Given the description of an element on the screen output the (x, y) to click on. 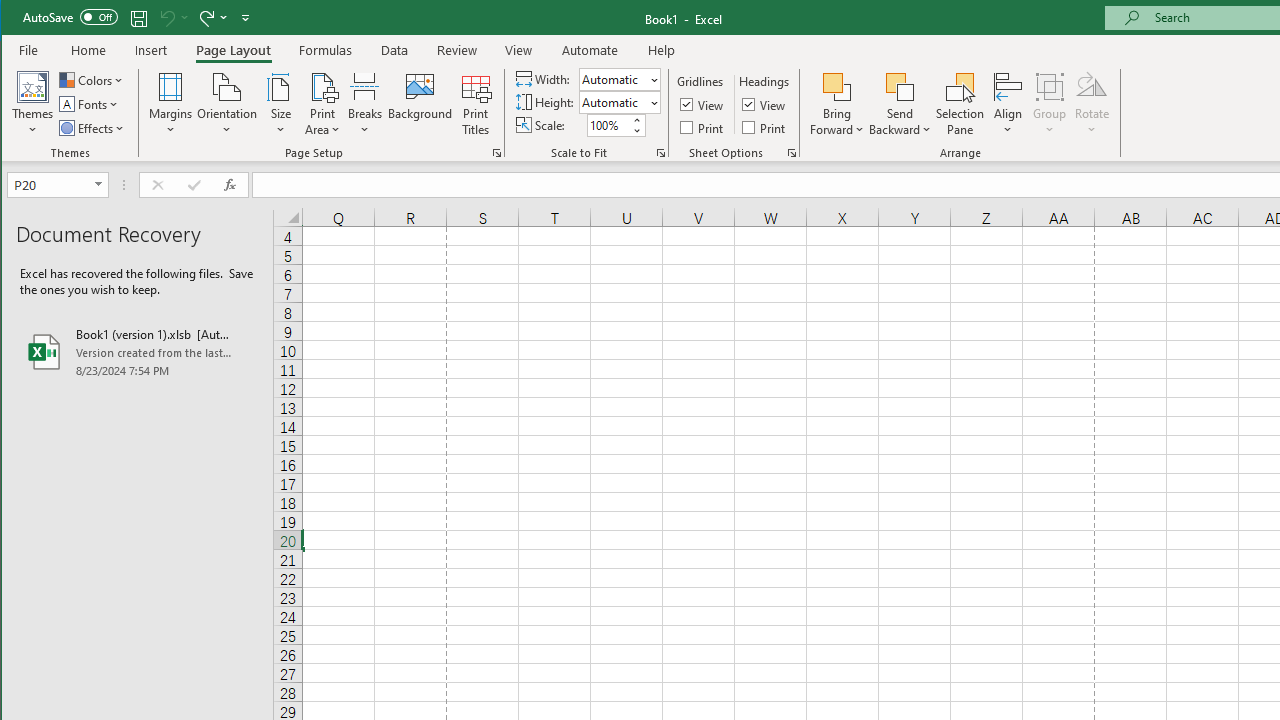
Height (612, 102)
Print Area (323, 104)
Group (1050, 104)
Rotate (1092, 104)
Send Backward (900, 86)
Print Titles (475, 104)
Background... (420, 104)
Align (1007, 104)
Print (765, 126)
